Given the description of an element on the screen output the (x, y) to click on. 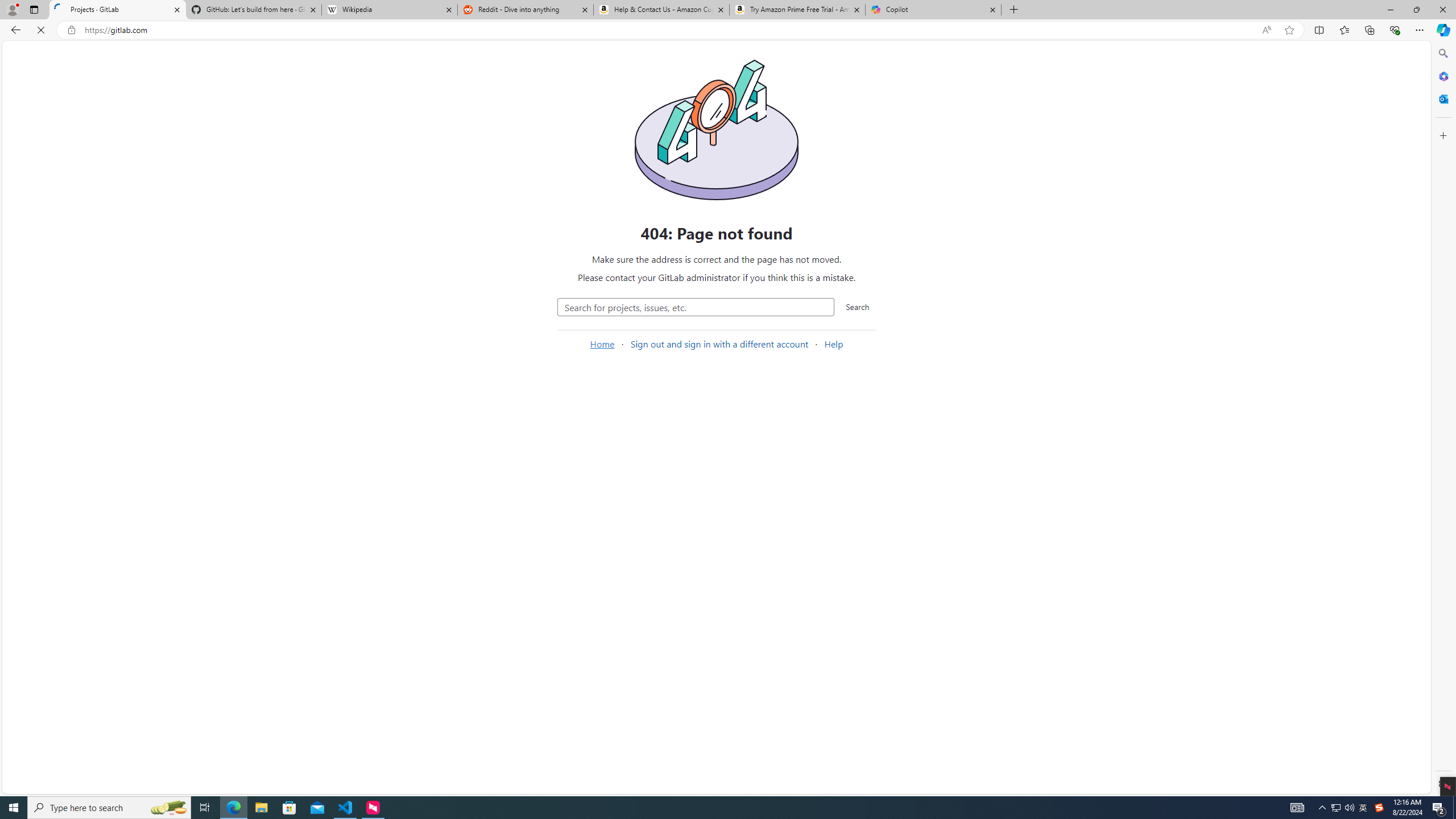
Create new... (113, 54)
Personal (561, 221)
Merge requests (74, 203)
Assigned issues 0 (28, 76)
Snippets (74, 262)
Environments (74, 321)
Merge requests (74, 203)
1 (447, 295)
